Given the description of an element on the screen output the (x, y) to click on. 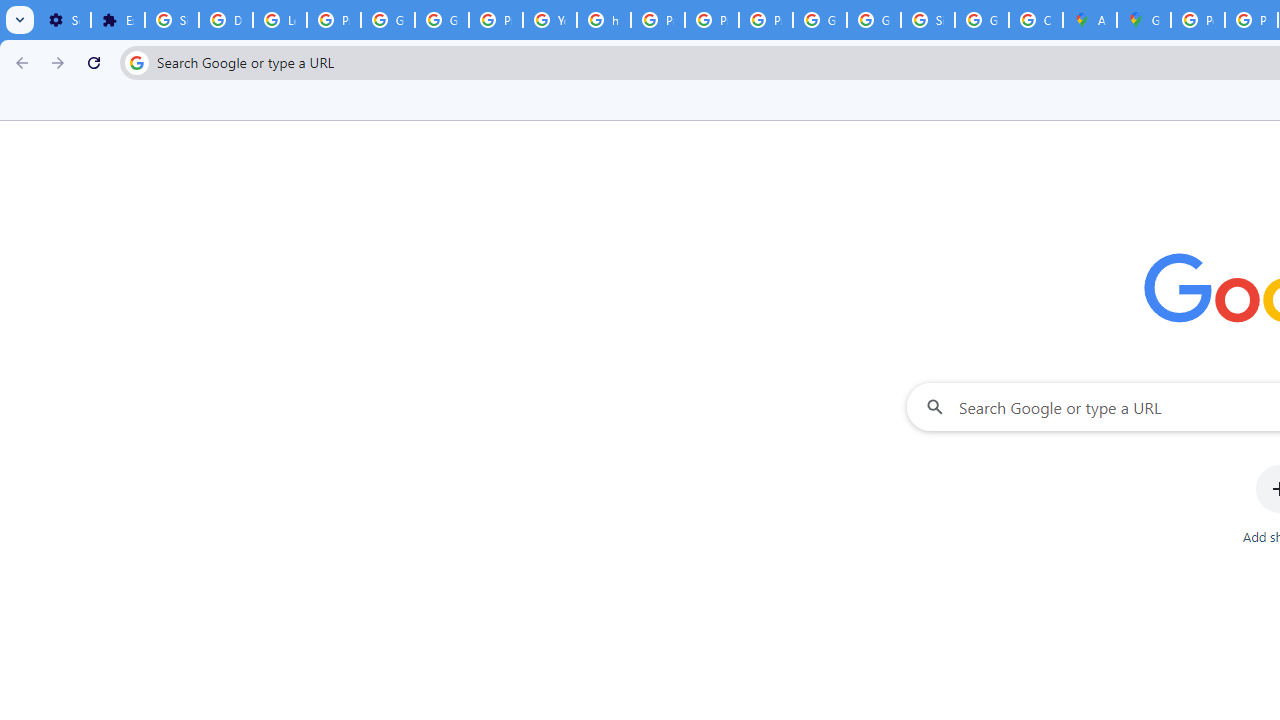
Google Maps (1144, 20)
Delete photos & videos - Computer - Google Photos Help (225, 20)
Extensions (117, 20)
Create your Google Account (1035, 20)
Sign in - Google Accounts (927, 20)
Privacy Help Center - Policies Help (657, 20)
Policy Accountability and Transparency - Transparency Center (1197, 20)
Settings - On startup (63, 20)
Sign in - Google Accounts (171, 20)
